Given the description of an element on the screen output the (x, y) to click on. 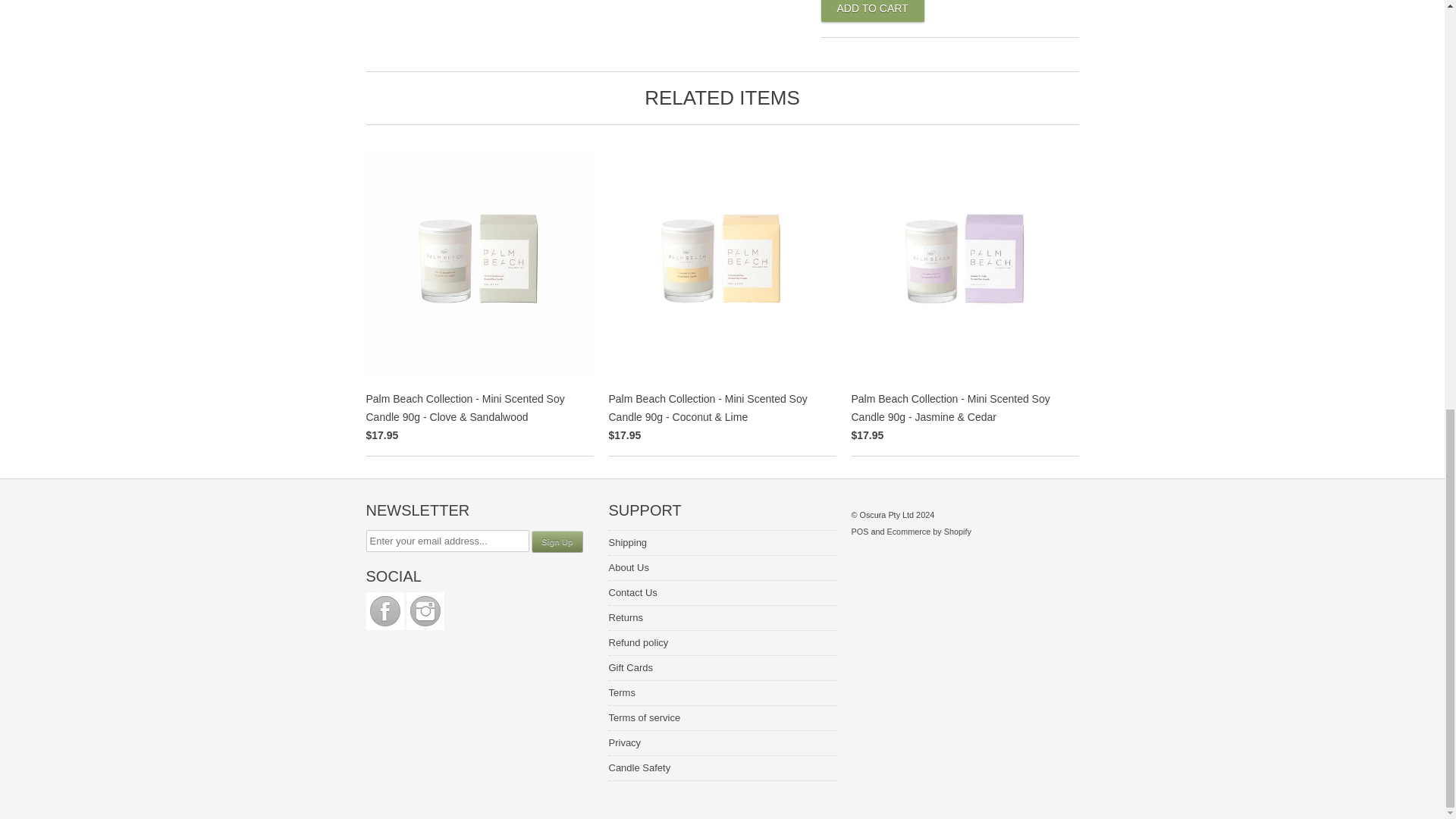
Add to Cart (872, 11)
Sign Up (557, 541)
